Given the description of an element on the screen output the (x, y) to click on. 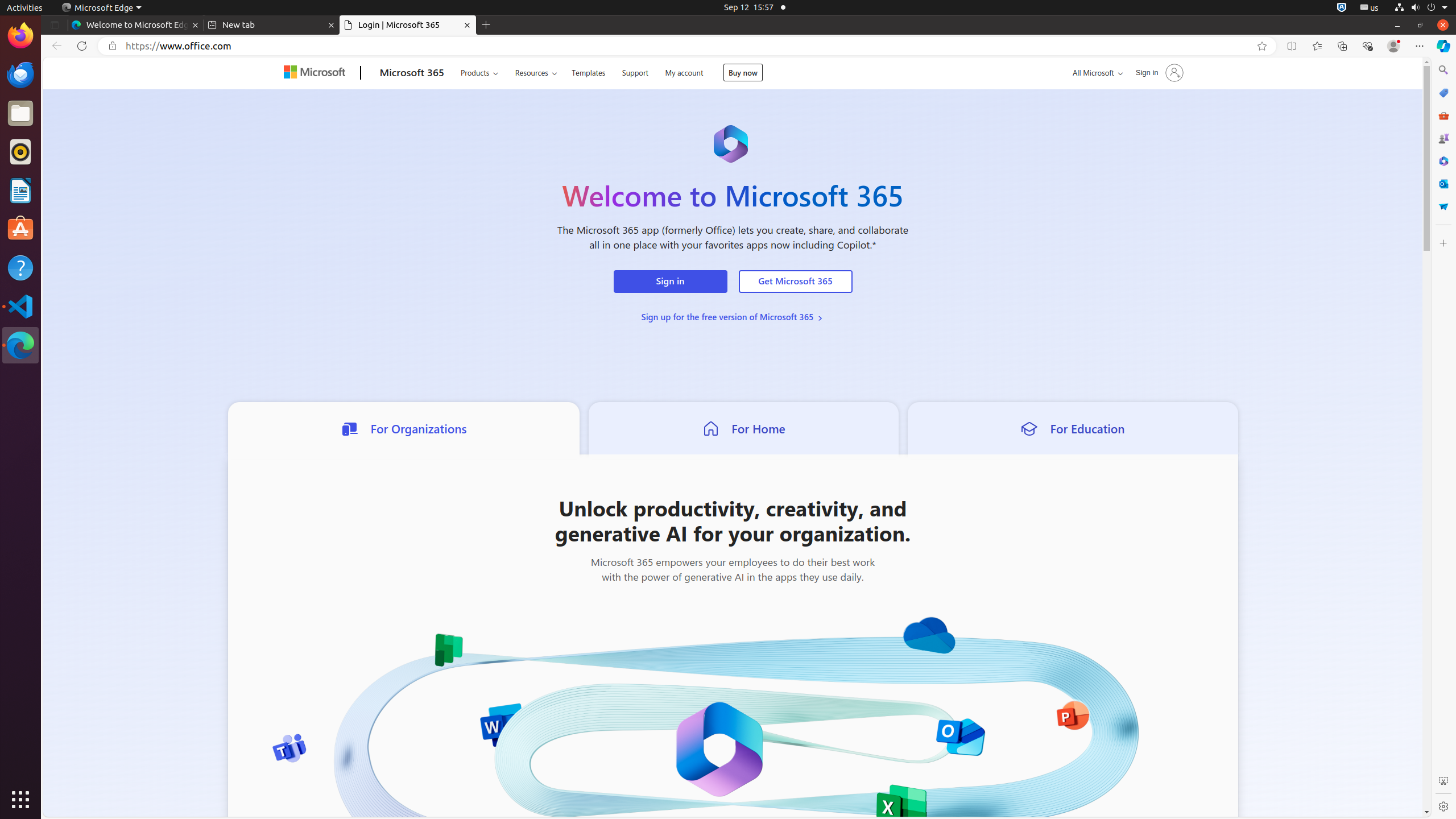
Show Applications Element type: toggle-button (20, 799)
Sign in to your account Element type: link (1158, 72)
Sign up for the free version of Microsoft 365 Element type: link (732, 316)
Split screen Element type: push-button (1291, 45)
LibreOffice Writer Element type: push-button (20, 190)
